Given the description of an element on the screen output the (x, y) to click on. 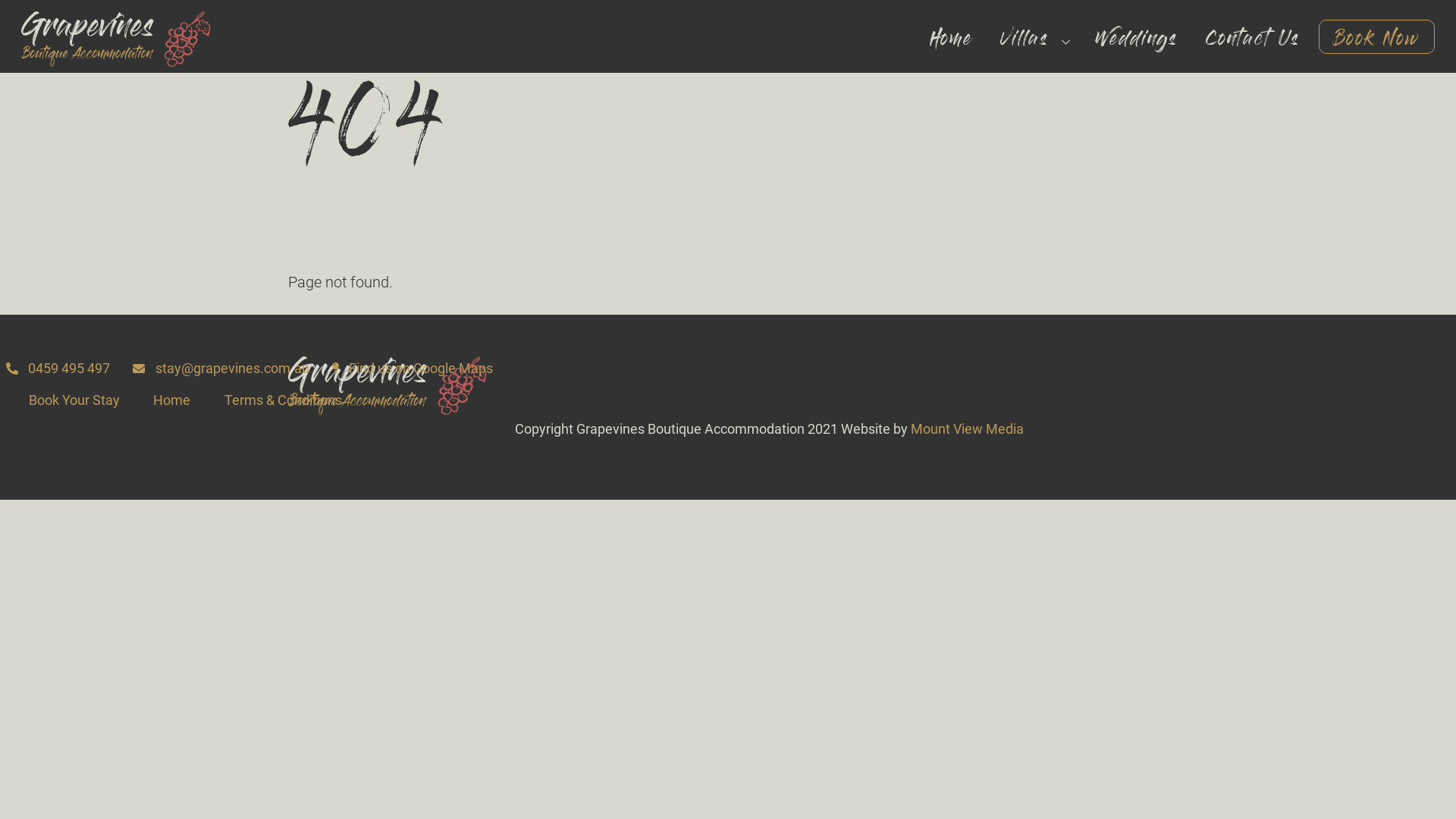
New Grapevine Logo Element type: hover (115, 38)
Grapevines Accommodation Element type: hover (115, 61)
Home Element type: text (953, 40)
Book Now Element type: text (1376, 36)
Weddings Element type: text (1139, 40)
New Grapevine Logo Element type: hover (387, 385)
stay@grapevines.com.au Element type: text (221, 368)
Contact Us Element type: text (1255, 40)
0459 495 497 Element type: text (59, 368)
Terms & Conditions Element type: text (282, 399)
Mount View Media Element type: text (966, 428)
Find us on Google Maps Element type: text (413, 368)
Grapevines Accommodation Element type: hover (387, 404)
Home Element type: text (171, 399)
Book Your Stay Element type: text (73, 399)
Villas Element type: text (1036, 40)
